Given the description of an element on the screen output the (x, y) to click on. 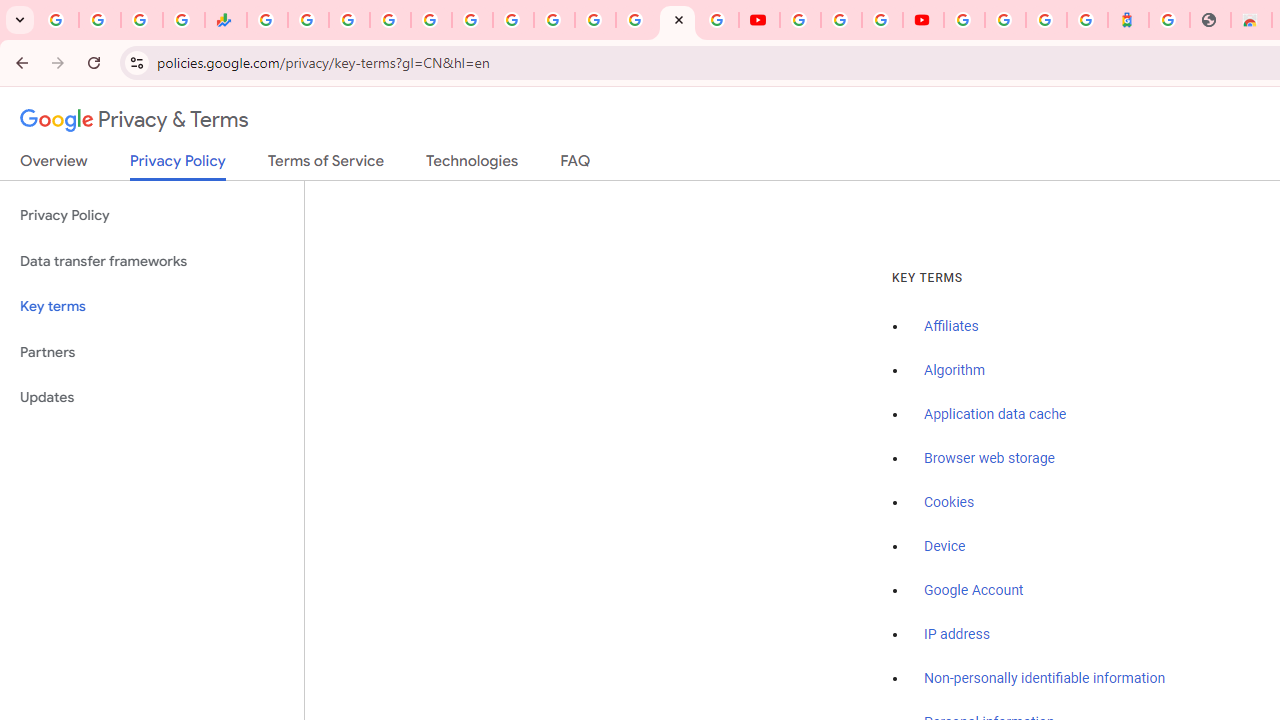
Sign in - Google Accounts (594, 20)
Device (945, 546)
Non-personally identifiable information (1045, 679)
YouTube (758, 20)
Sign in - Google Accounts (1005, 20)
Android TV Policies and Guidelines - Transparency Center (512, 20)
Cookies (949, 502)
Browser web storage (989, 459)
Algorithm (954, 371)
